Given the description of an element on the screen output the (x, y) to click on. 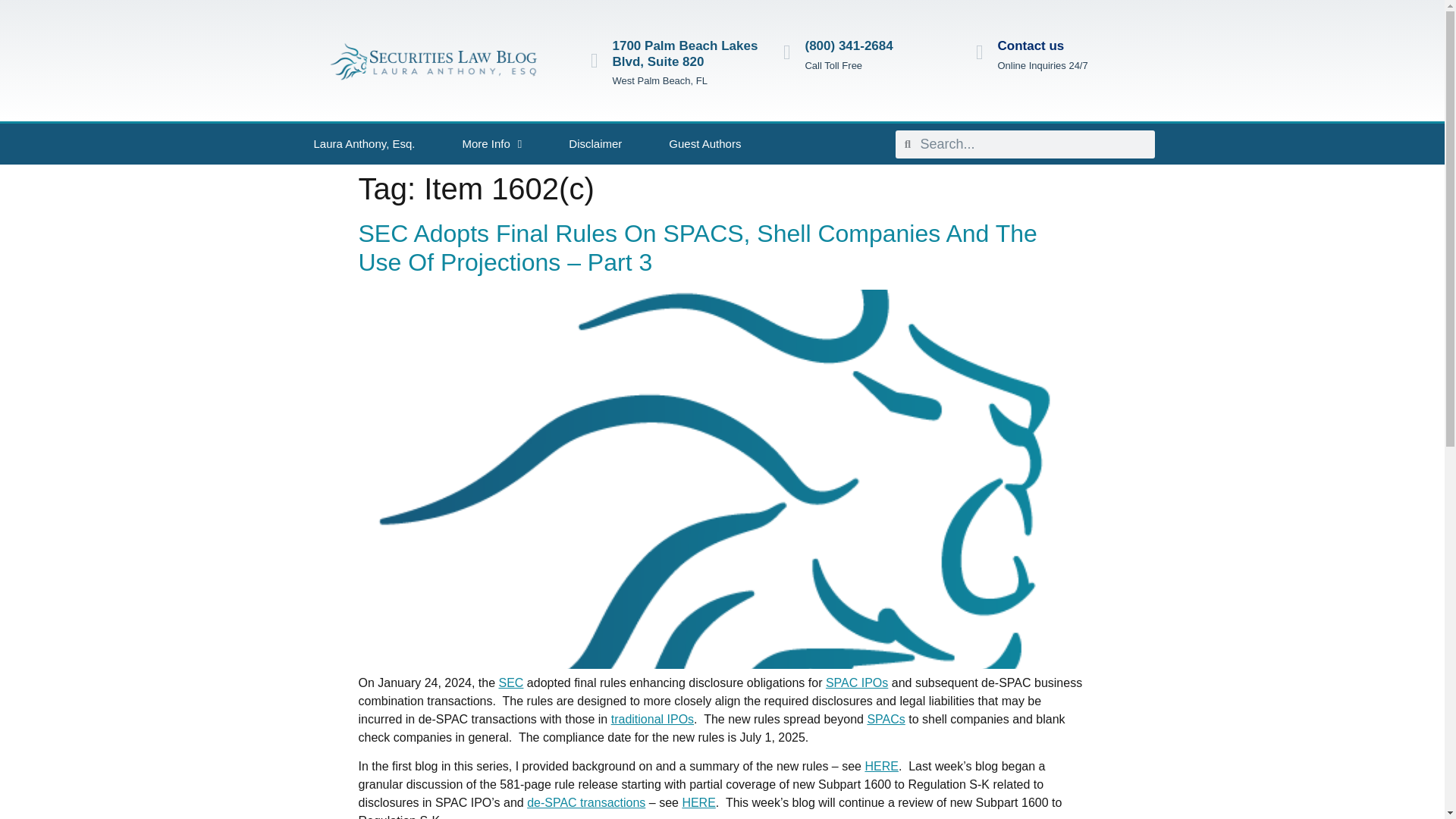
1700 Palm Beach Lakes Blvd, Suite 820 (685, 52)
de-SPAC transactions (586, 802)
Laura Anthony, Esq. (363, 143)
SEC (511, 682)
SPACs (885, 718)
traditional IPOs (652, 718)
Contact us (1030, 45)
Disclaimer (594, 143)
More Info (491, 143)
Guest Authors (704, 143)
HERE (881, 766)
HERE (697, 802)
SPAC IPOs (856, 682)
